Given the description of an element on the screen output the (x, y) to click on. 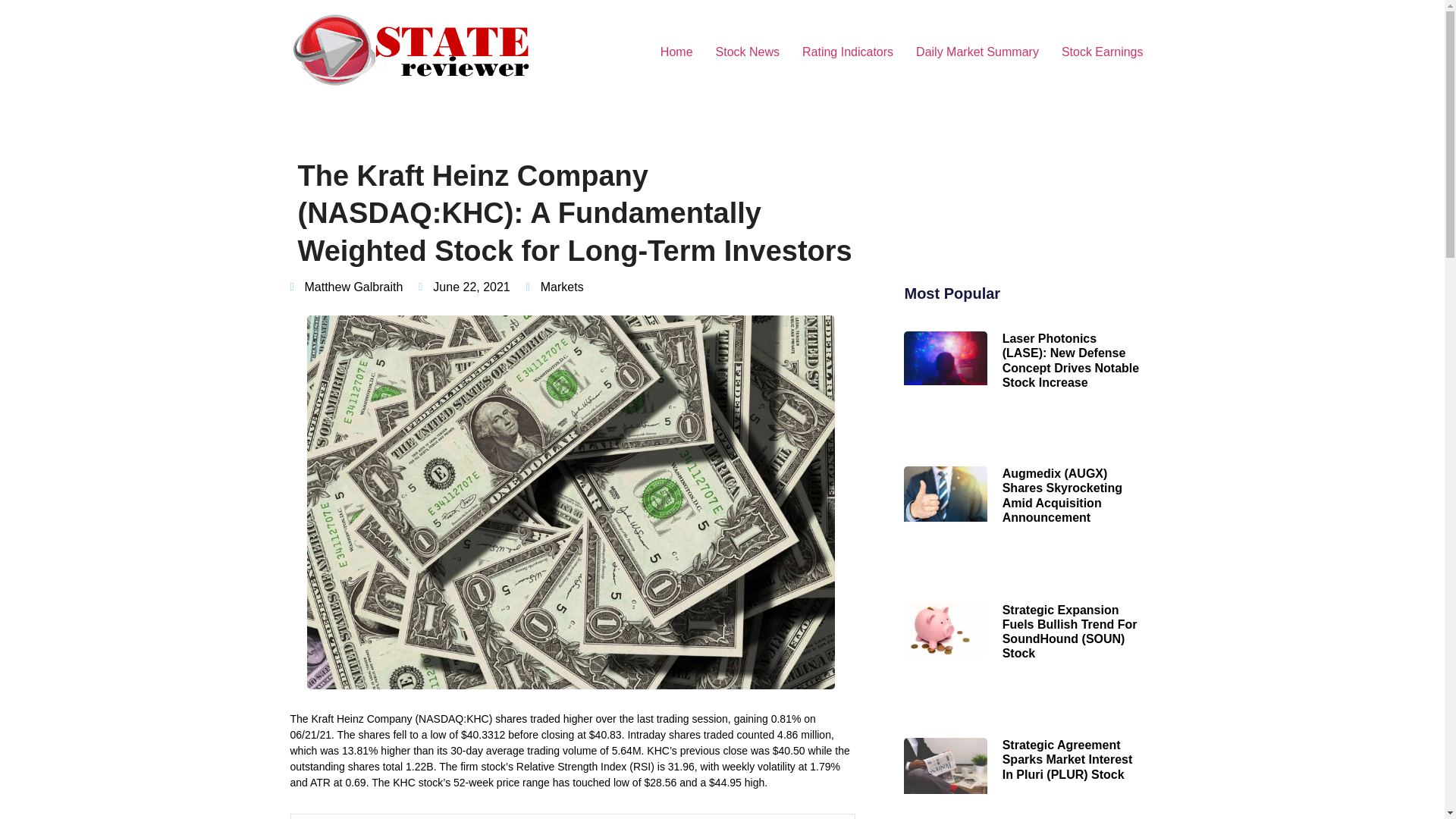
Rating Indicators (847, 51)
June 22, 2021 (464, 287)
Markets (561, 286)
Daily Market Summary (976, 51)
Matthew Galbraith (346, 287)
Home (676, 51)
Stock Earnings (1101, 51)
Stock News (747, 51)
